Given the description of an element on the screen output the (x, y) to click on. 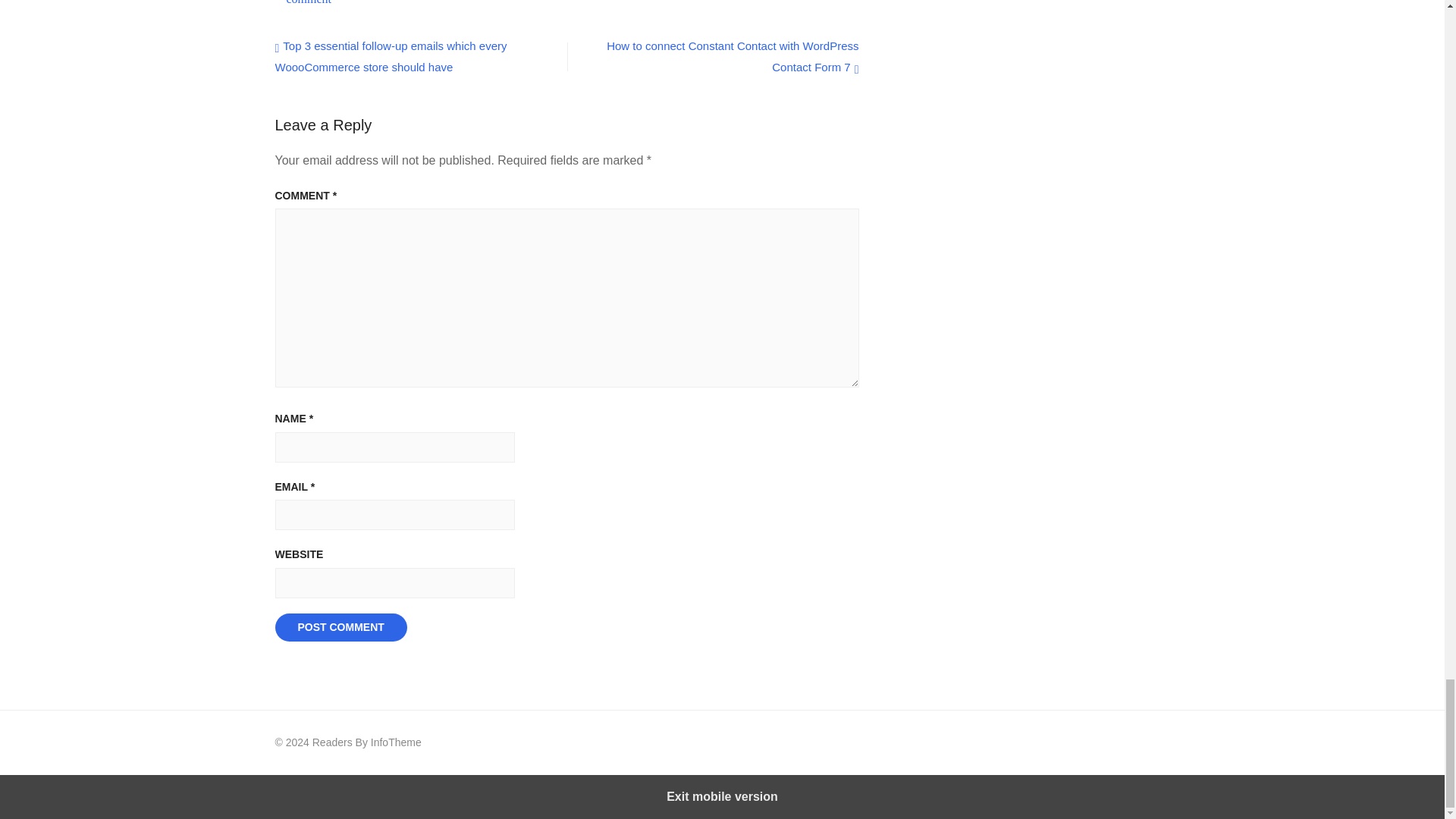
Post Comment (340, 627)
Post Comment (340, 627)
